Given the description of an element on the screen output the (x, y) to click on. 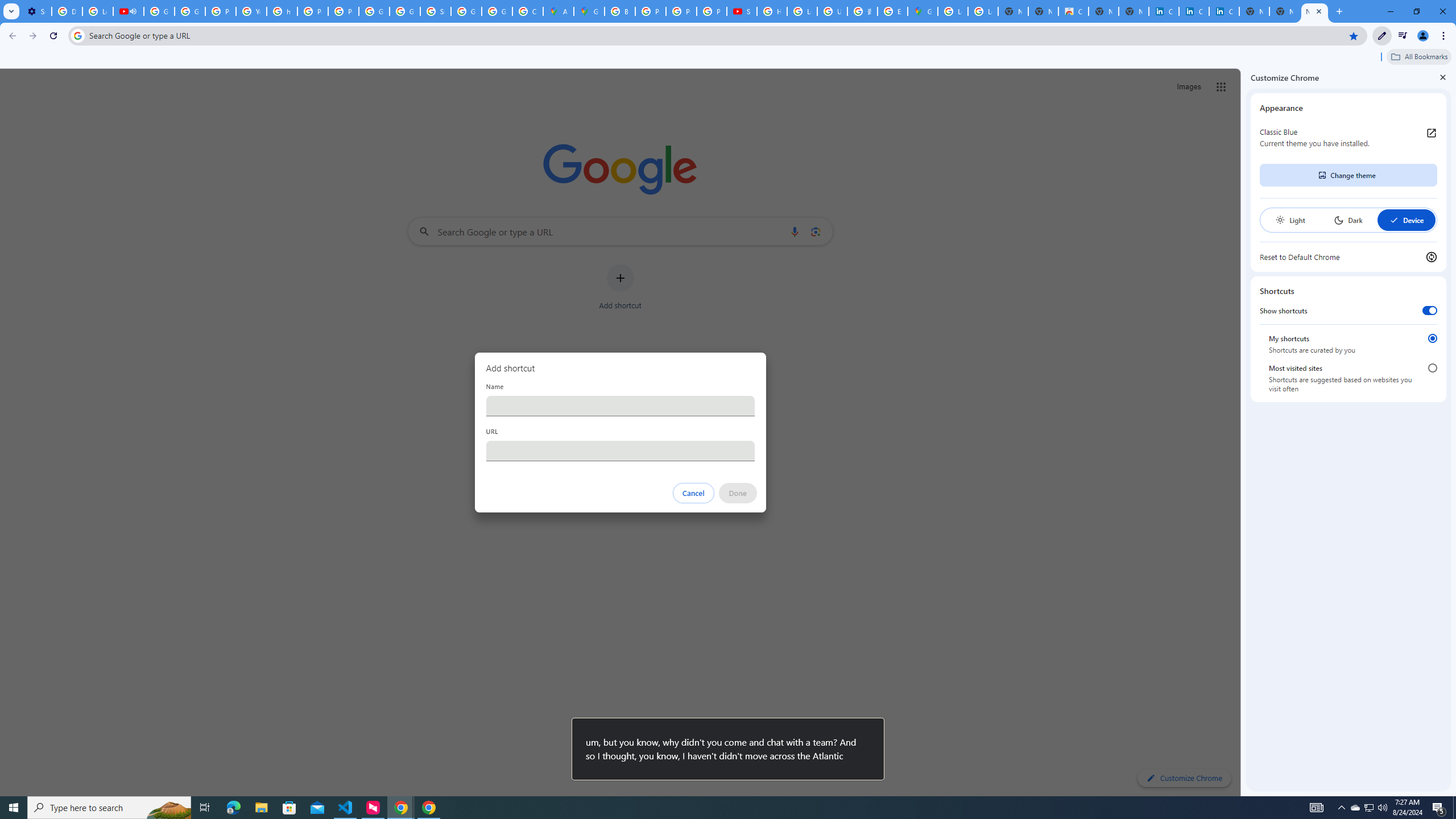
Copyright Policy (1224, 11)
Show shortcuts (1429, 310)
Light (1289, 219)
Dark (1348, 219)
Reset to Default Chrome (1347, 256)
Device (1406, 219)
